Given the description of an element on the screen output the (x, y) to click on. 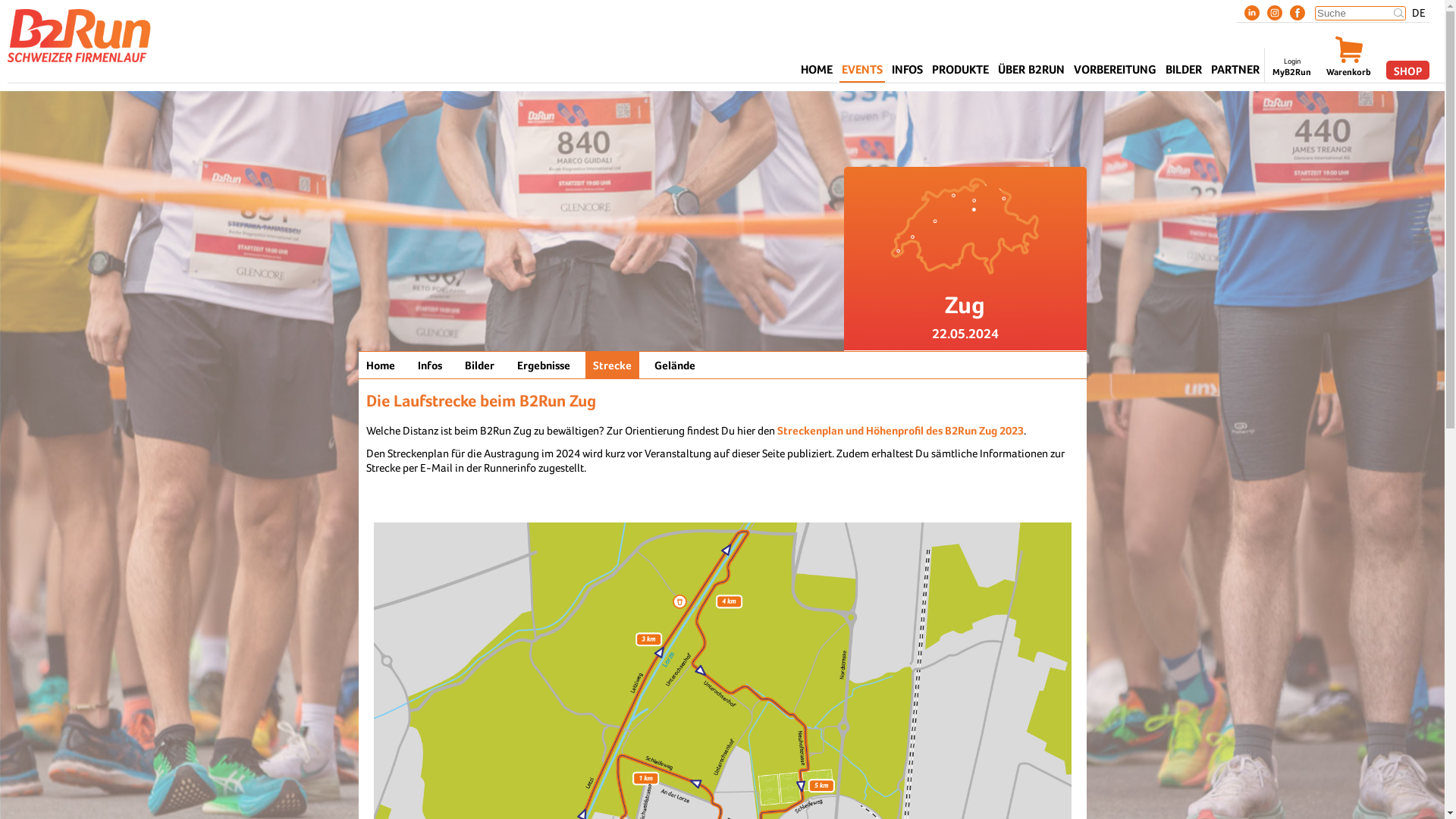
PARTNER Element type: text (1234, 71)
Home Element type: text (379, 364)
HOME Element type: text (816, 71)
SHOP Element type: text (1407, 69)
Strecke Element type: text (612, 364)
Ergebnisse Element type: text (543, 364)
BILDER Element type: text (1183, 71)
Bilder Element type: text (478, 364)
x Element type: text (1398, 13)
PRODUKTE Element type: text (960, 71)
Infos Element type: text (428, 364)
